Given the description of an element on the screen output the (x, y) to click on. 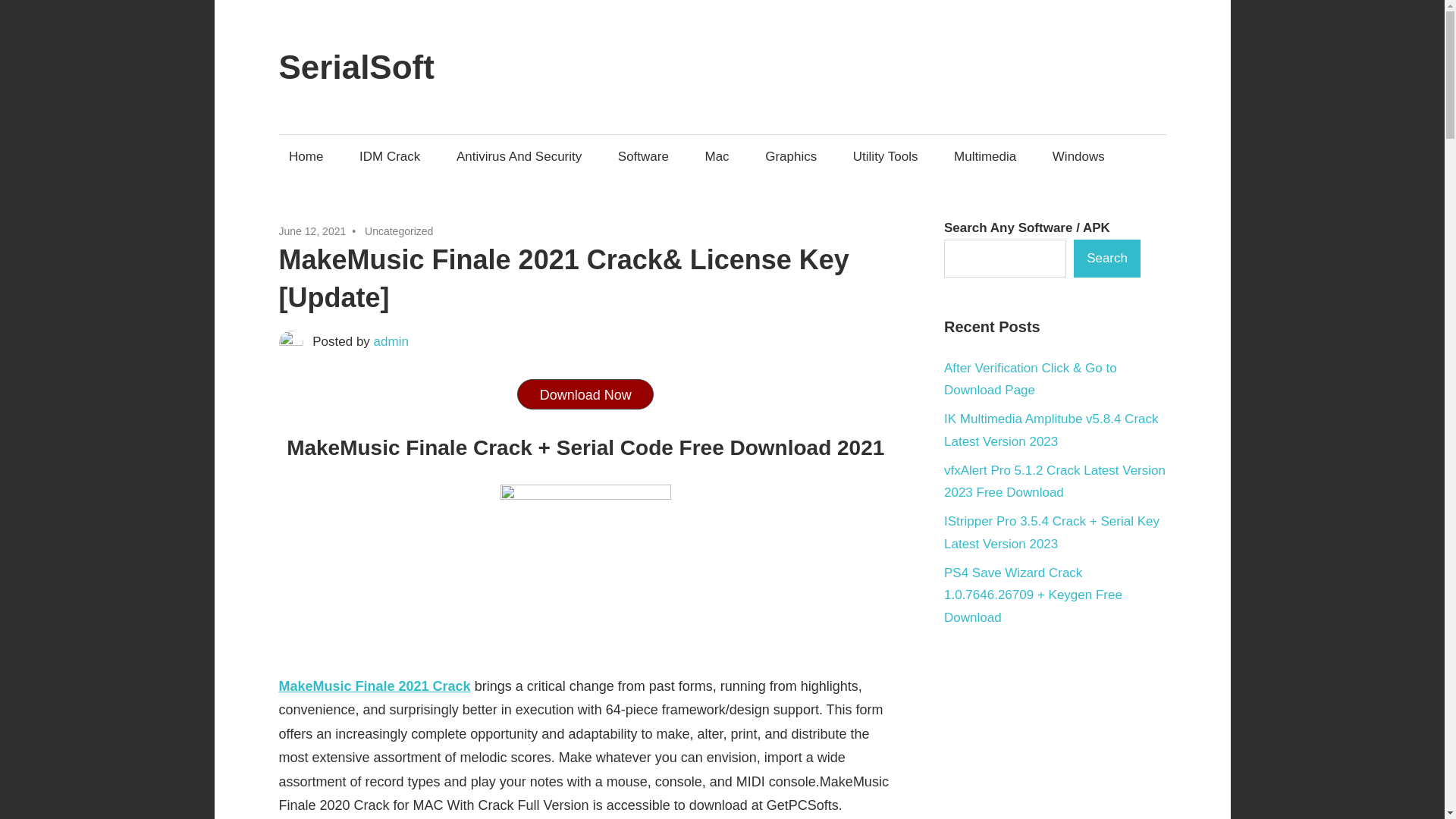
Software (642, 156)
Uncategorized (398, 231)
Antivirus And Security (518, 156)
Utility Tools (885, 156)
Multimedia (984, 156)
Home (306, 156)
IDM Crack (389, 156)
11:25 am (312, 231)
SerialSoft (356, 66)
Download Now (584, 394)
Mac (716, 156)
admin (391, 341)
View all posts by admin (391, 341)
Graphics (791, 156)
June 12, 2021 (312, 231)
